Given the description of an element on the screen output the (x, y) to click on. 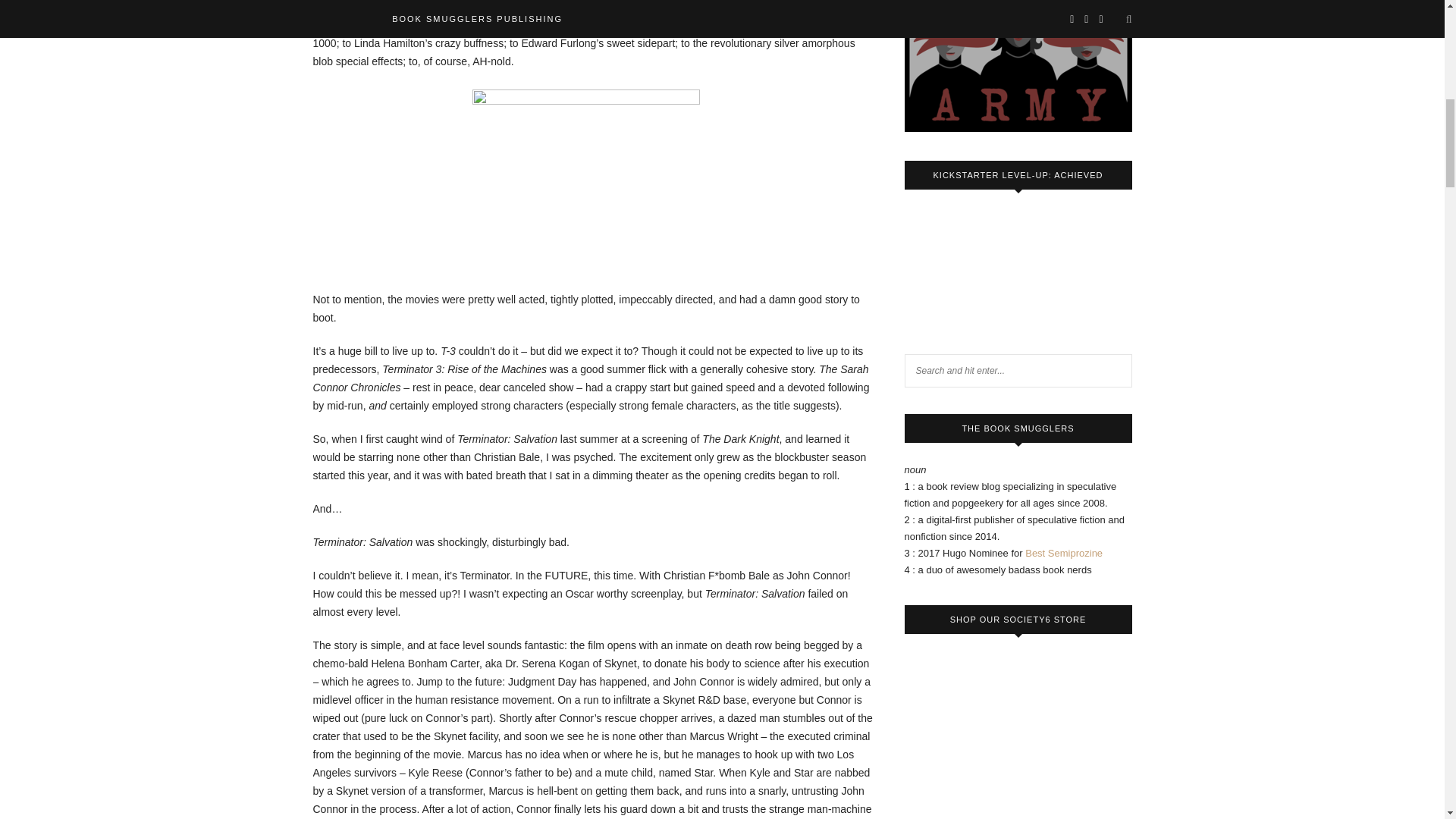
t2 (584, 174)
